Given the description of an element on the screen output the (x, y) to click on. 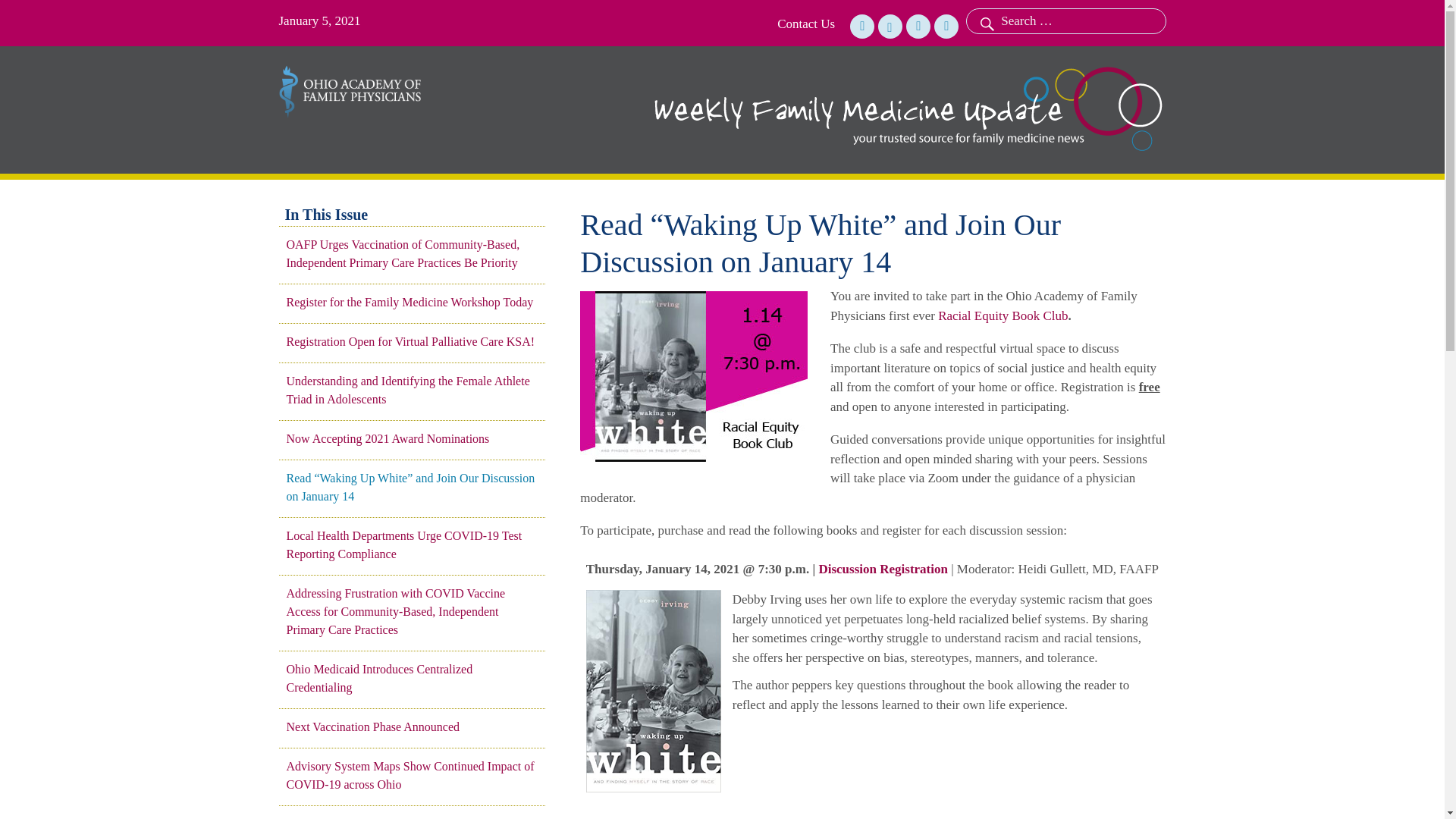
Ohio Medicaid Introduces Centralized Credentialing (411, 678)
Next Vaccination Phase Announced (411, 727)
Registration Open for Virtual Palliative Care KSA! (411, 341)
Discussion Registration (882, 568)
Child Care Study on COVID Spread (411, 816)
Racial Equity Book Club (1002, 314)
Contact Us (805, 24)
Register for the Family Medicine Workshop Today (411, 302)
SEARCH (985, 21)
Now Accepting 2021 Award Nominations (411, 438)
